Given the description of an element on the screen output the (x, y) to click on. 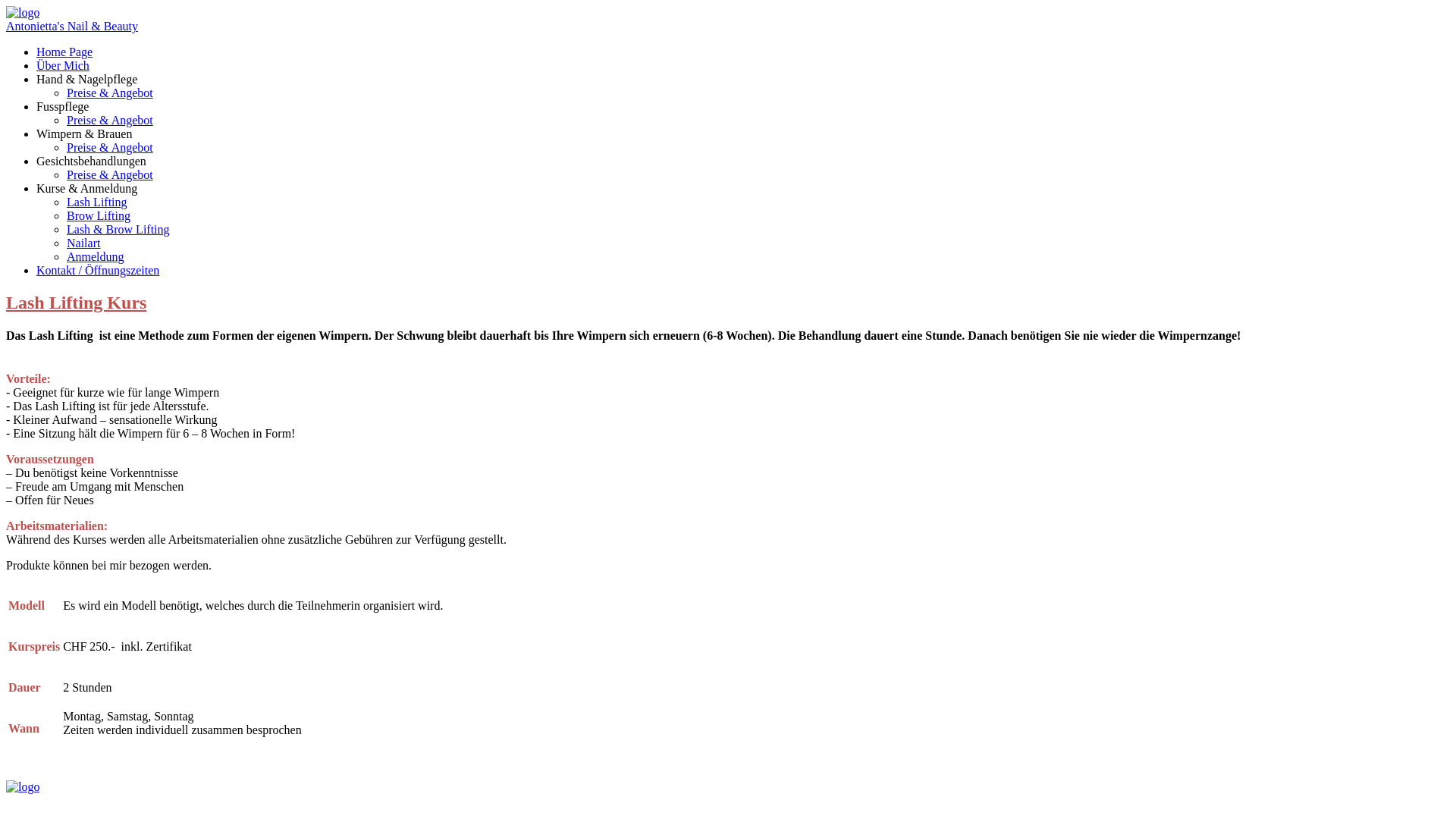
Lash & Brow Lifting Element type: text (117, 228)
Lash Lifting Element type: text (96, 201)
Brow Lifting Element type: text (98, 215)
Preise & Angebot Element type: text (109, 92)
Preise & Angebot Element type: text (109, 147)
Anmeldung Element type: text (95, 256)
Nailart Element type: text (83, 242)
Preise & Angebot Element type: text (109, 119)
Home Page Element type: text (64, 51)
Preise & Angebot Element type: text (109, 174)
Antonietta's Nail & Beauty Element type: text (72, 25)
